Given the description of an element on the screen output the (x, y) to click on. 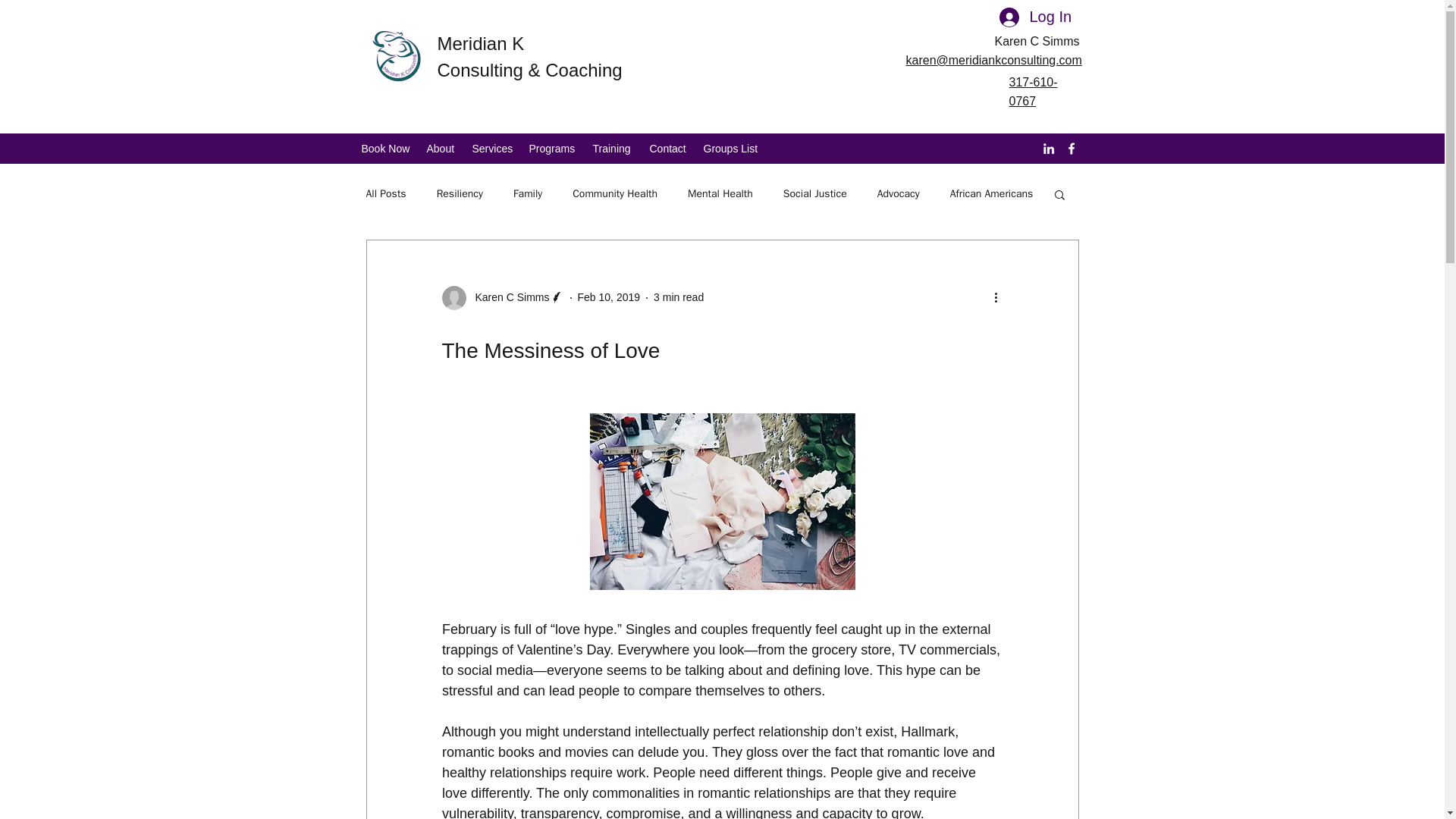
Feb 10, 2019 (609, 297)
3 min read (678, 297)
Book Now (386, 148)
African Americans (991, 193)
Karen C Simms (506, 297)
317-610-0767 (1033, 91)
About (441, 148)
Training (613, 148)
Groups List (731, 148)
Advocacy (898, 193)
Log In (1034, 17)
All Posts (385, 193)
Services (492, 148)
Social Justice (815, 193)
Family (527, 193)
